Given the description of an element on the screen output the (x, y) to click on. 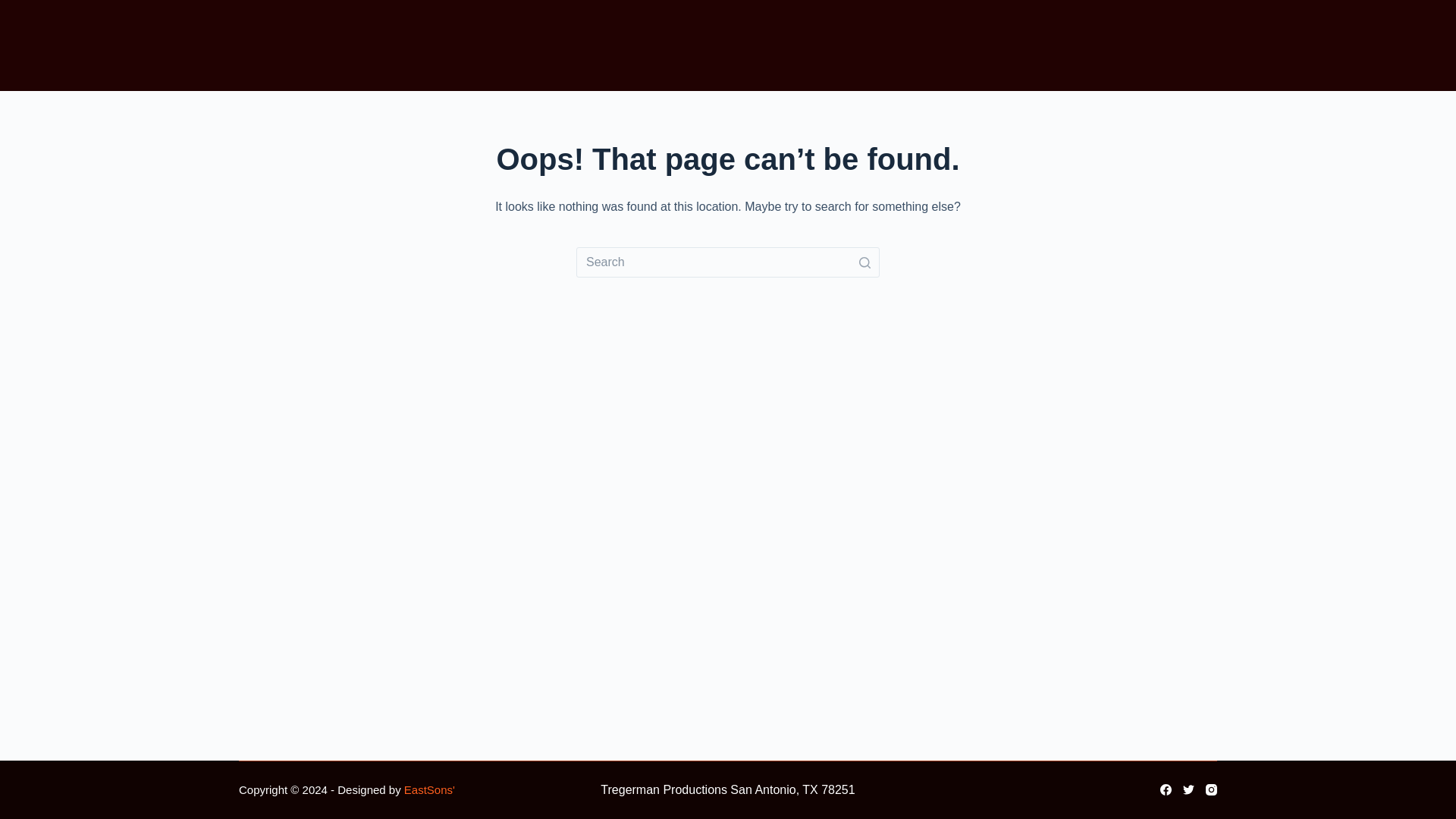
Skip to content (15, 7)
Search for... (727, 262)
EastSons' (429, 789)
